Given the description of an element on the screen output the (x, y) to click on. 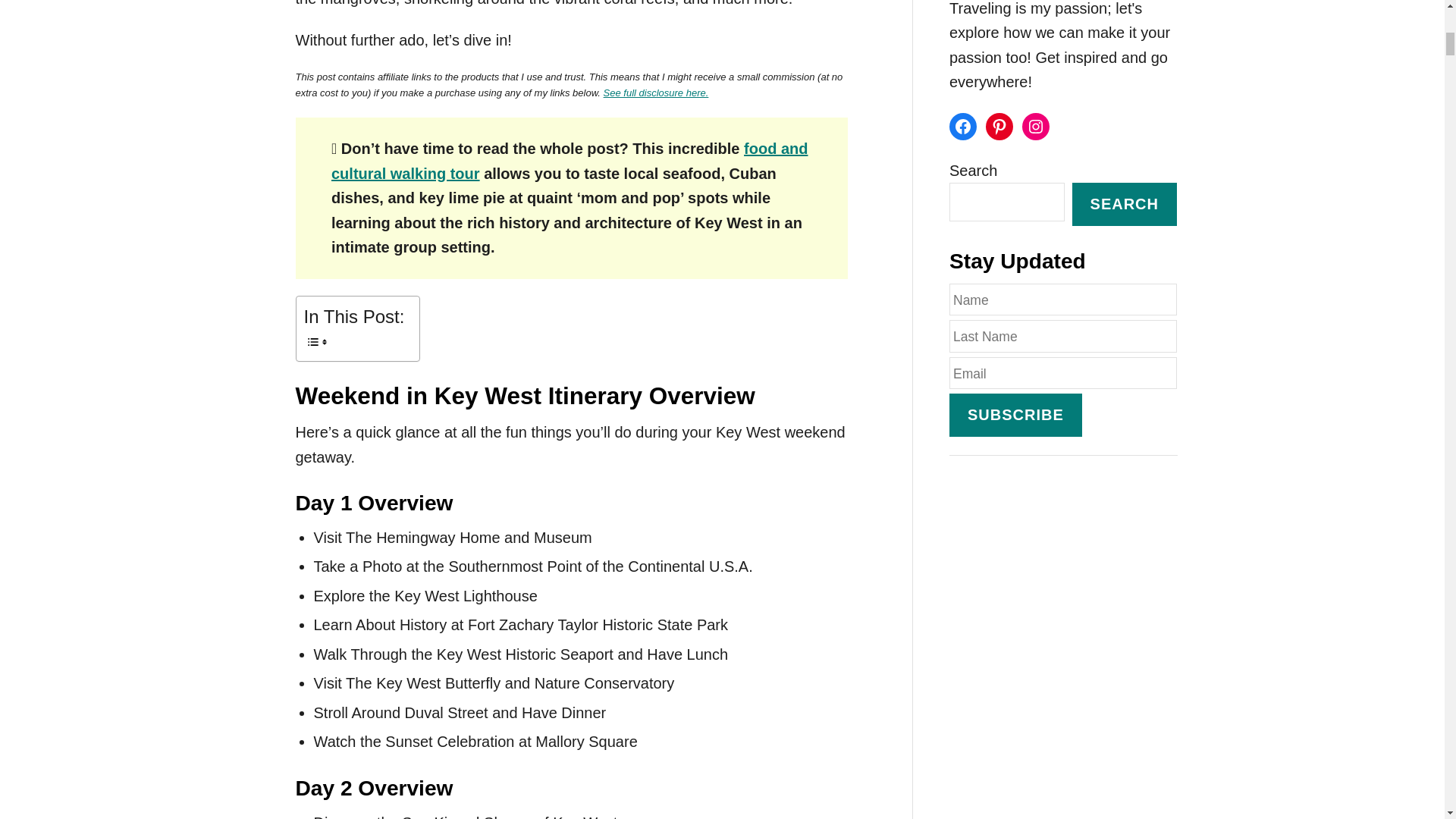
food and cultural walking tour (569, 160)
Subscribe (1015, 414)
See full disclosure here. (656, 92)
